Given the description of an element on the screen output the (x, y) to click on. 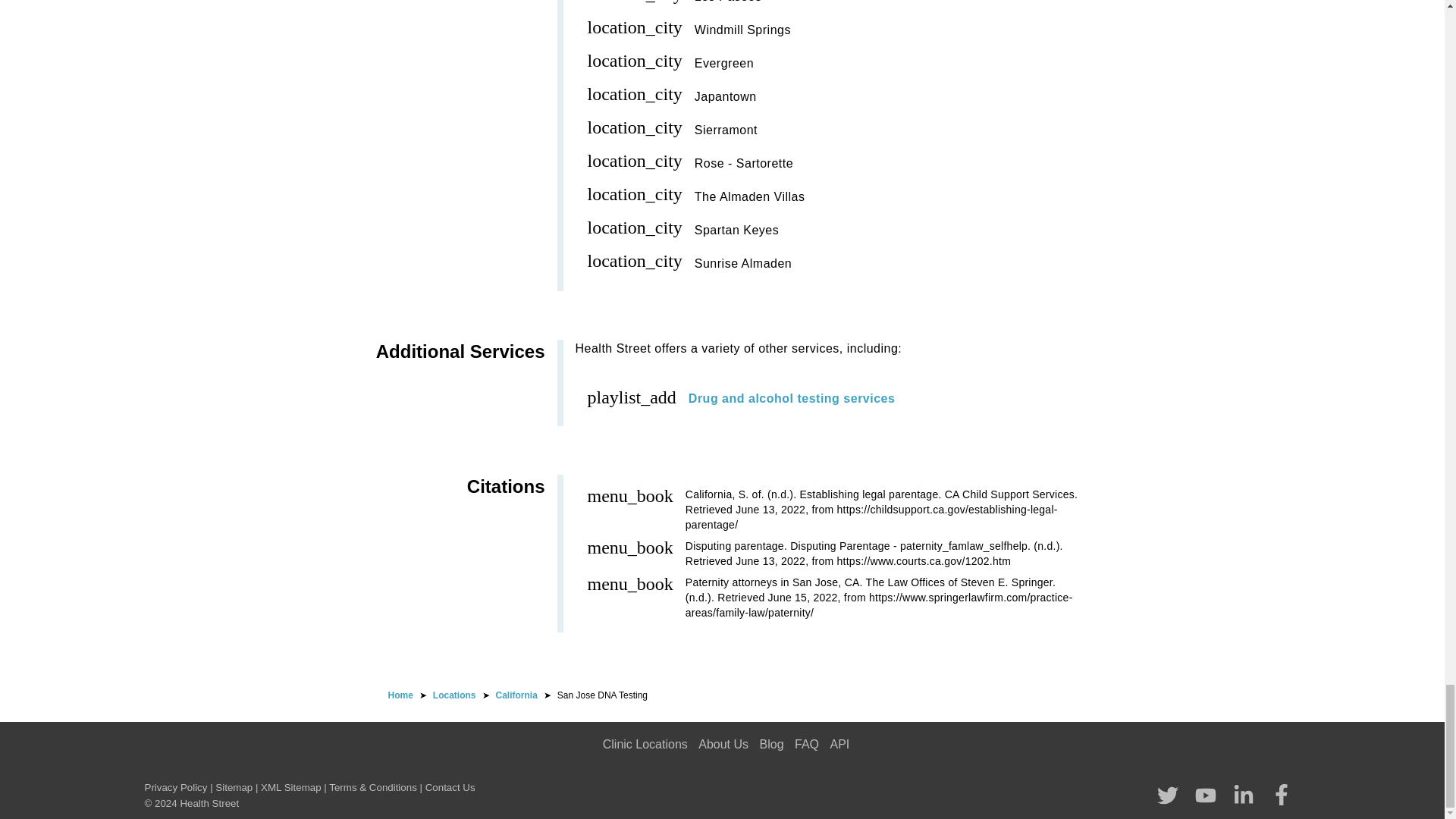
Health Street (400, 695)
Drug and Alcohol testing services (791, 398)
